Given the description of an element on the screen output the (x, y) to click on. 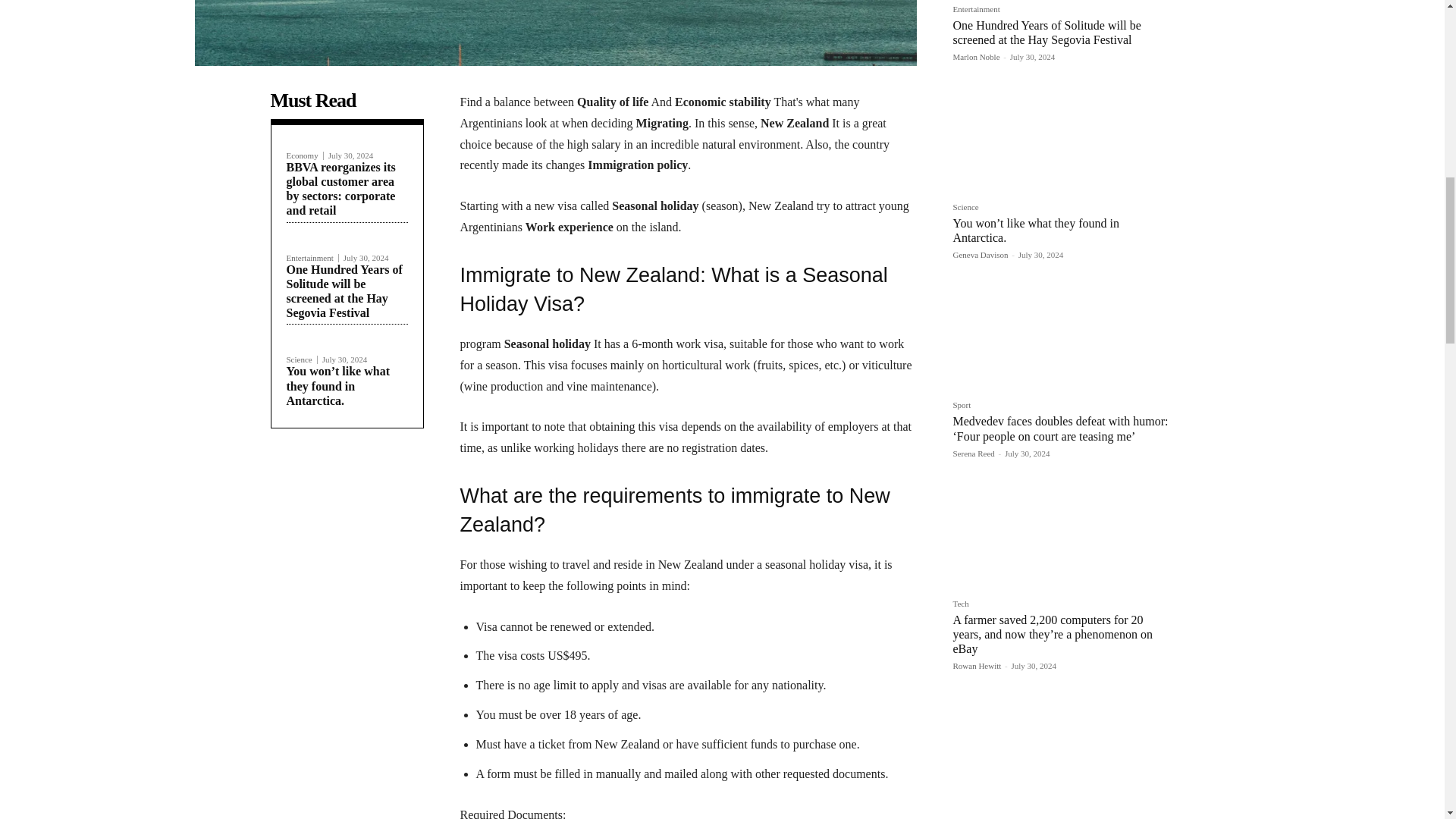
Science (301, 359)
Economy (304, 155)
Entertainment (312, 257)
